Given the description of an element on the screen output the (x, y) to click on. 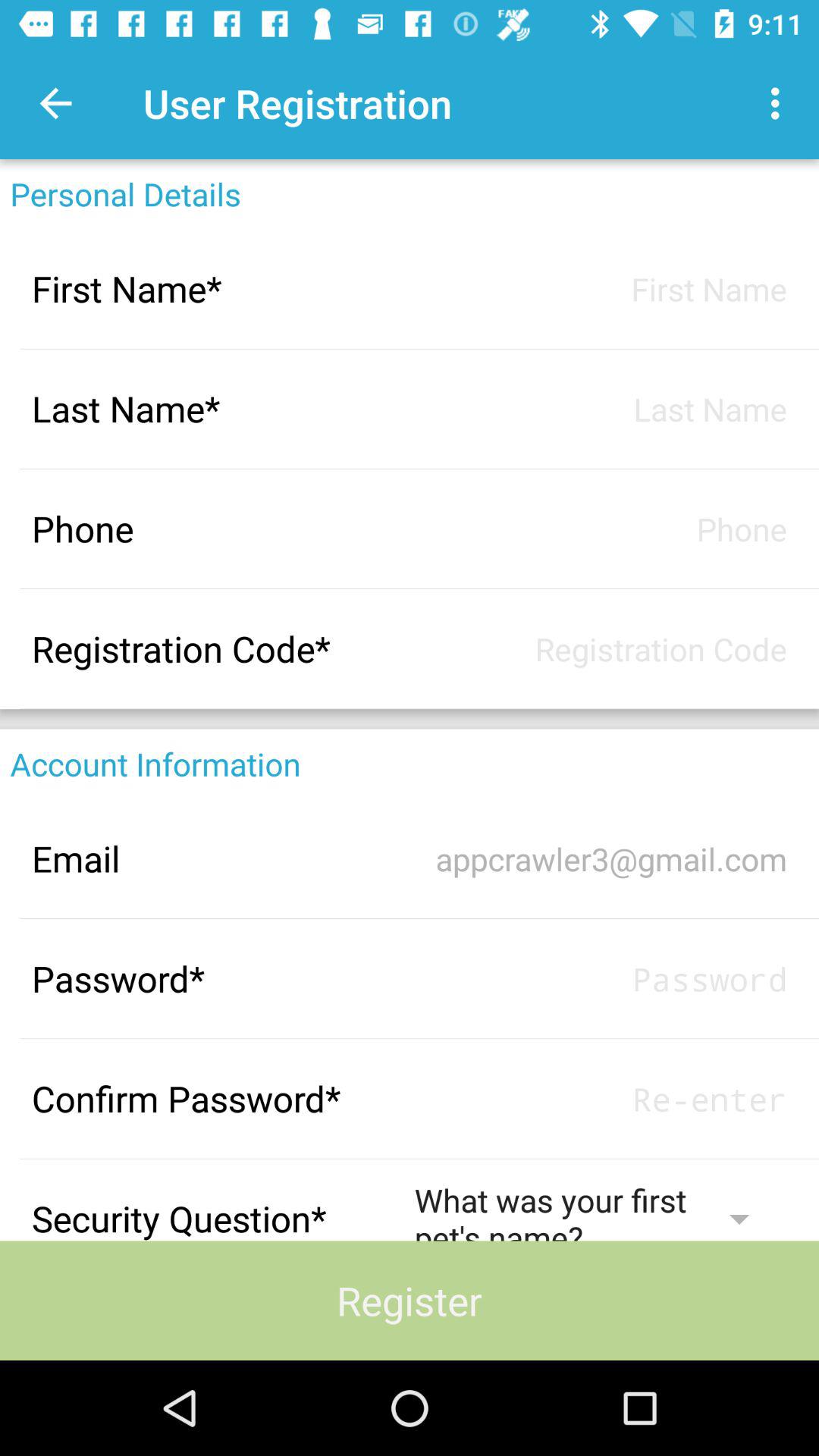
enter name (600, 288)
